Given the description of an element on the screen output the (x, y) to click on. 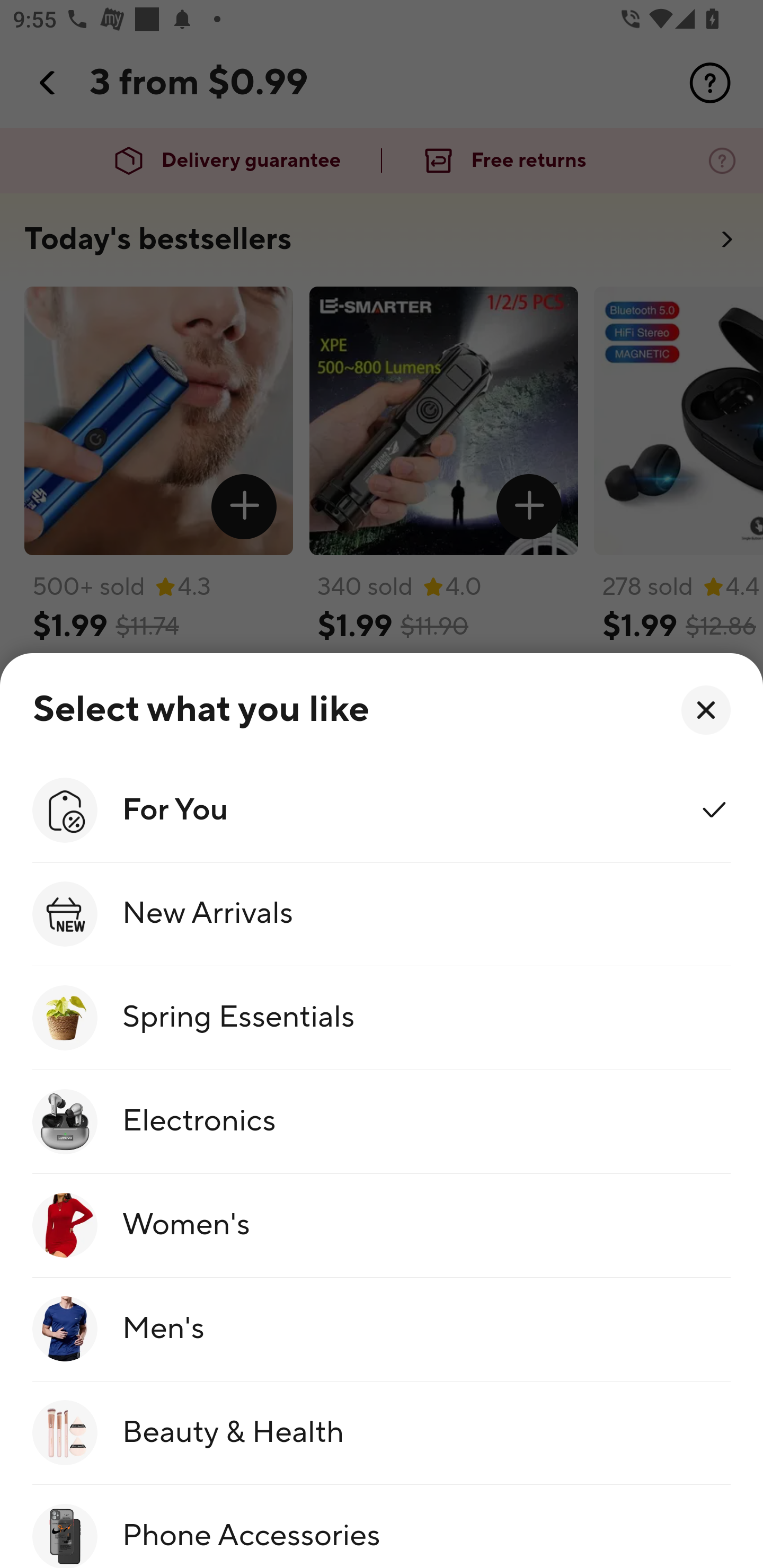
96x96 (705, 710)
144x144.png_ For You  (381, 809)
144x144.png_ New Arrivals (381, 913)
200x200.png_ Spring Essentials (381, 1017)
300x300.png_ Electronics (381, 1121)
200x200.png_ Women's (381, 1224)
200x200.png_ Men's (381, 1329)
300x300.png_ Beauty & Health (381, 1433)
300x300.png_ Phone Accessories (381, 1526)
